Given the description of an element on the screen output the (x, y) to click on. 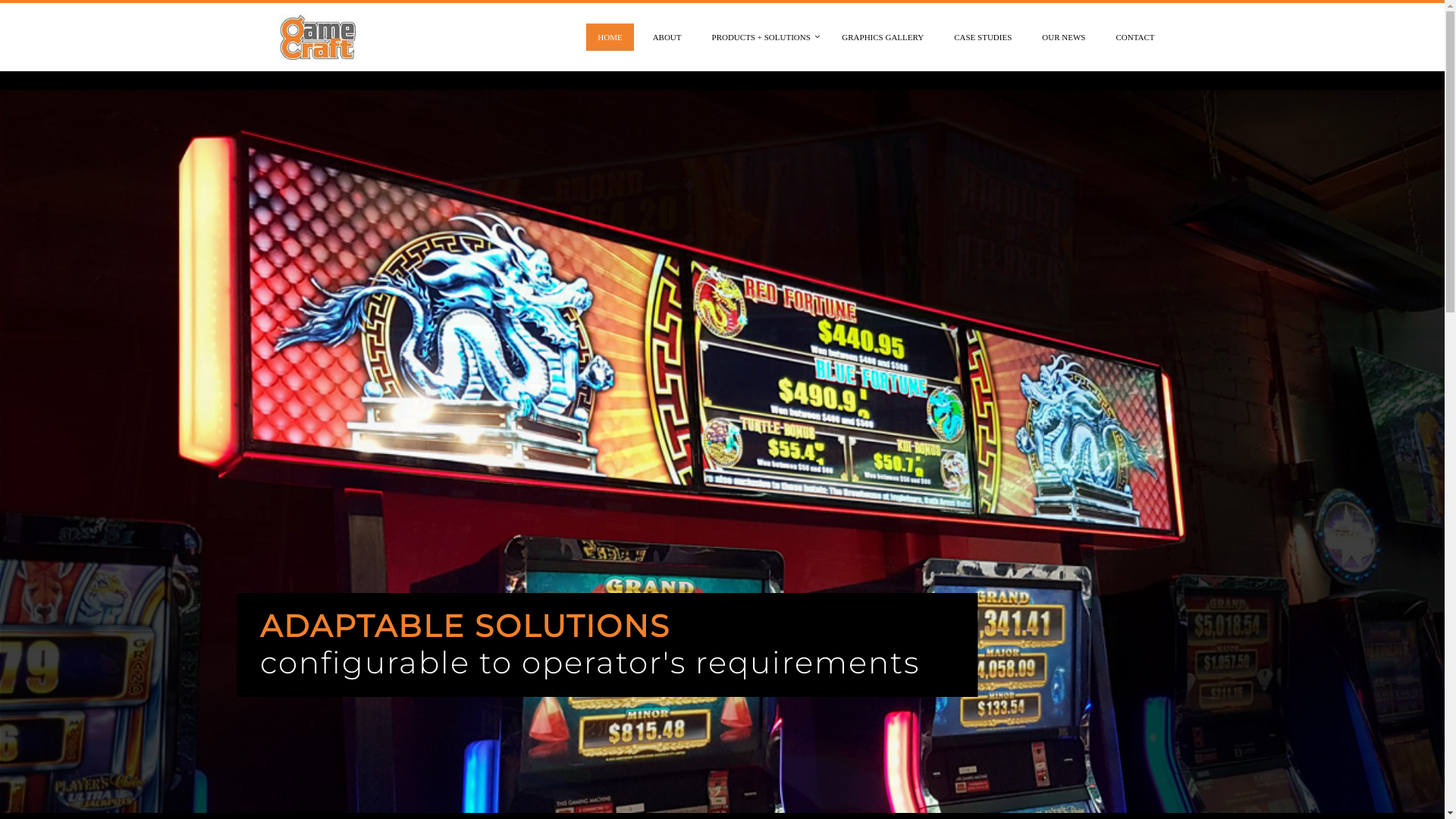
GRAPHICS GALLERY Element type: text (882, 36)
CONTACT Element type: text (1134, 36)
OUR NEWS Element type: text (1063, 36)
CASE STUDIES Element type: text (982, 36)
PRODUCTS + SOLUTIONS Element type: text (761, 36)
ABOUT Element type: text (667, 36)
HOME Element type: text (609, 36)
